Given the description of an element on the screen output the (x, y) to click on. 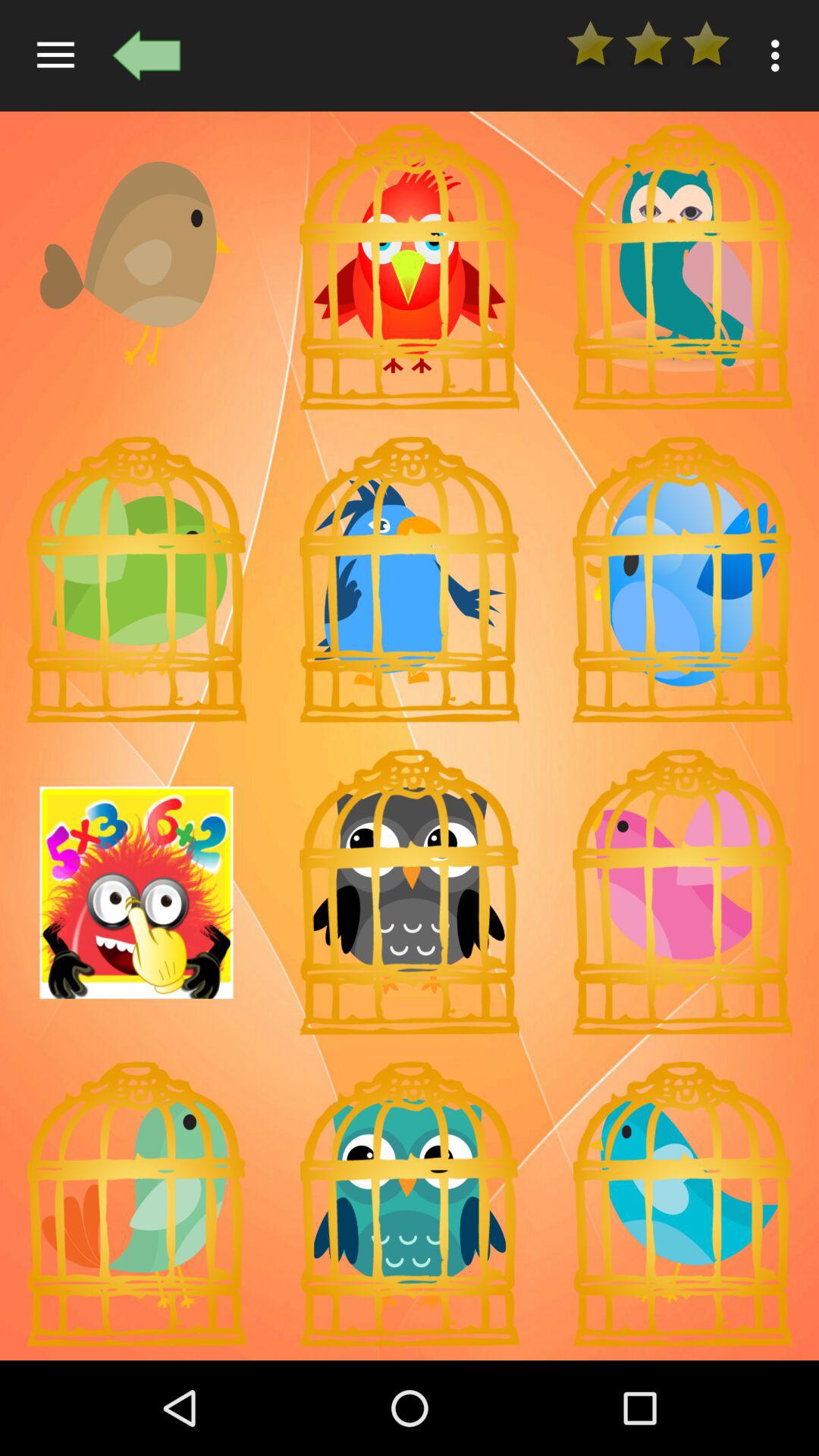
unlockable reward inside the app (682, 892)
